Given the description of an element on the screen output the (x, y) to click on. 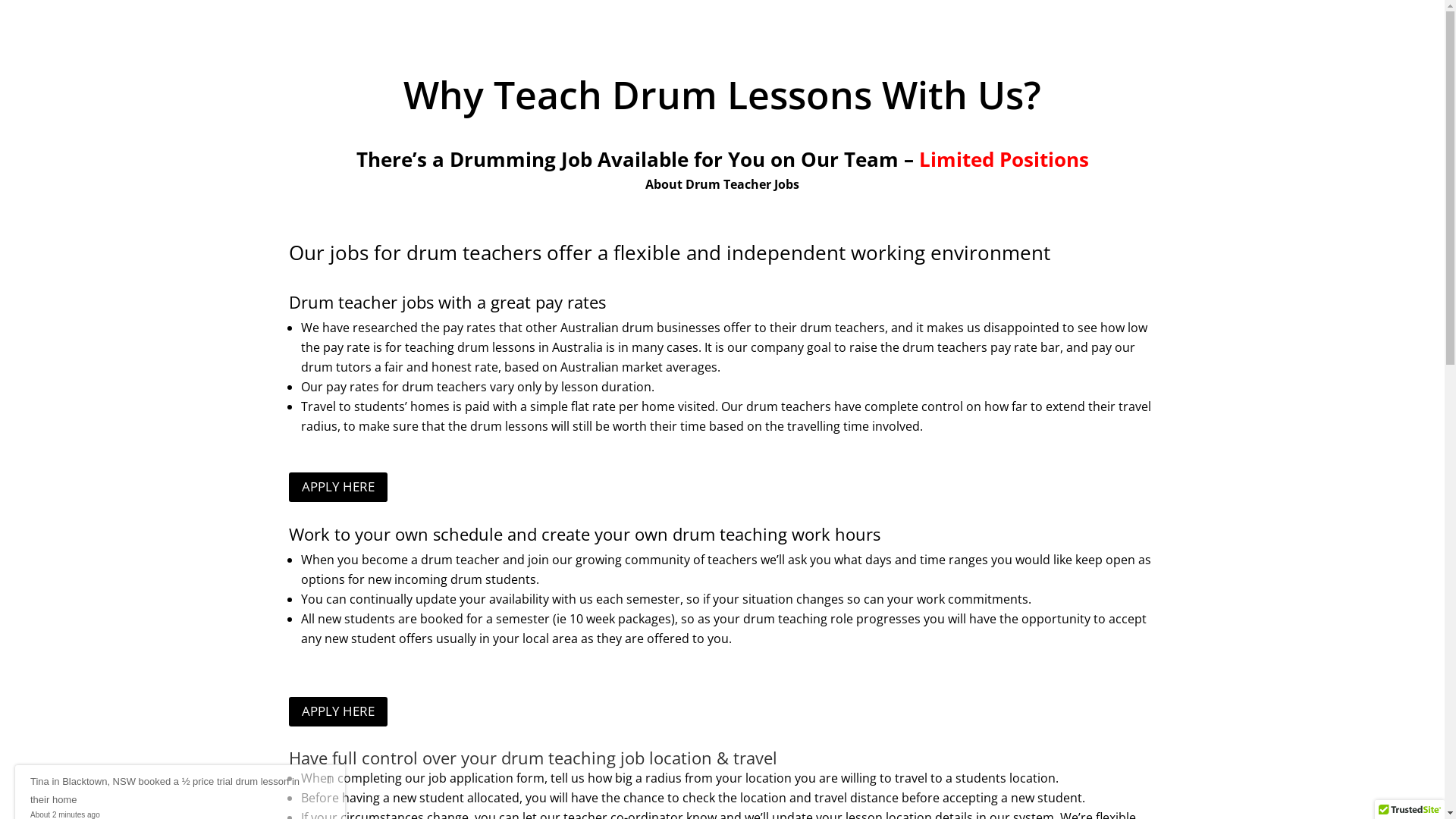
APPLY HERE Element type: text (337, 487)
Drum Teacher Jobs Element type: text (742, 183)
APPLY HERE Element type: text (337, 711)
